Given the description of an element on the screen output the (x, y) to click on. 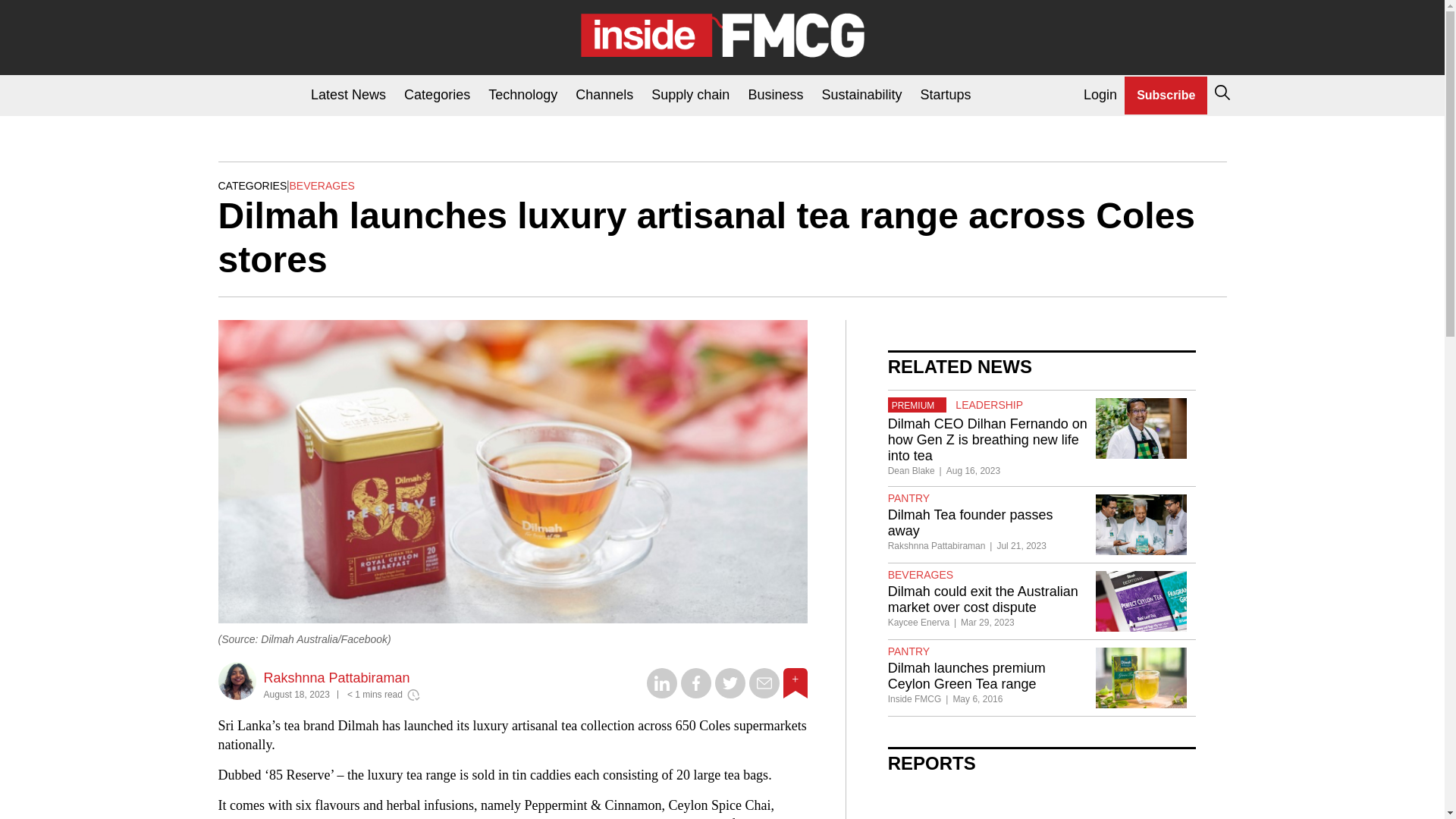
Share on Email (764, 694)
Share on LinkedIn (661, 694)
Categories (436, 95)
Share on Twitter (730, 694)
Share on Facebook (695, 694)
Latest News (347, 95)
